Given the description of an element on the screen output the (x, y) to click on. 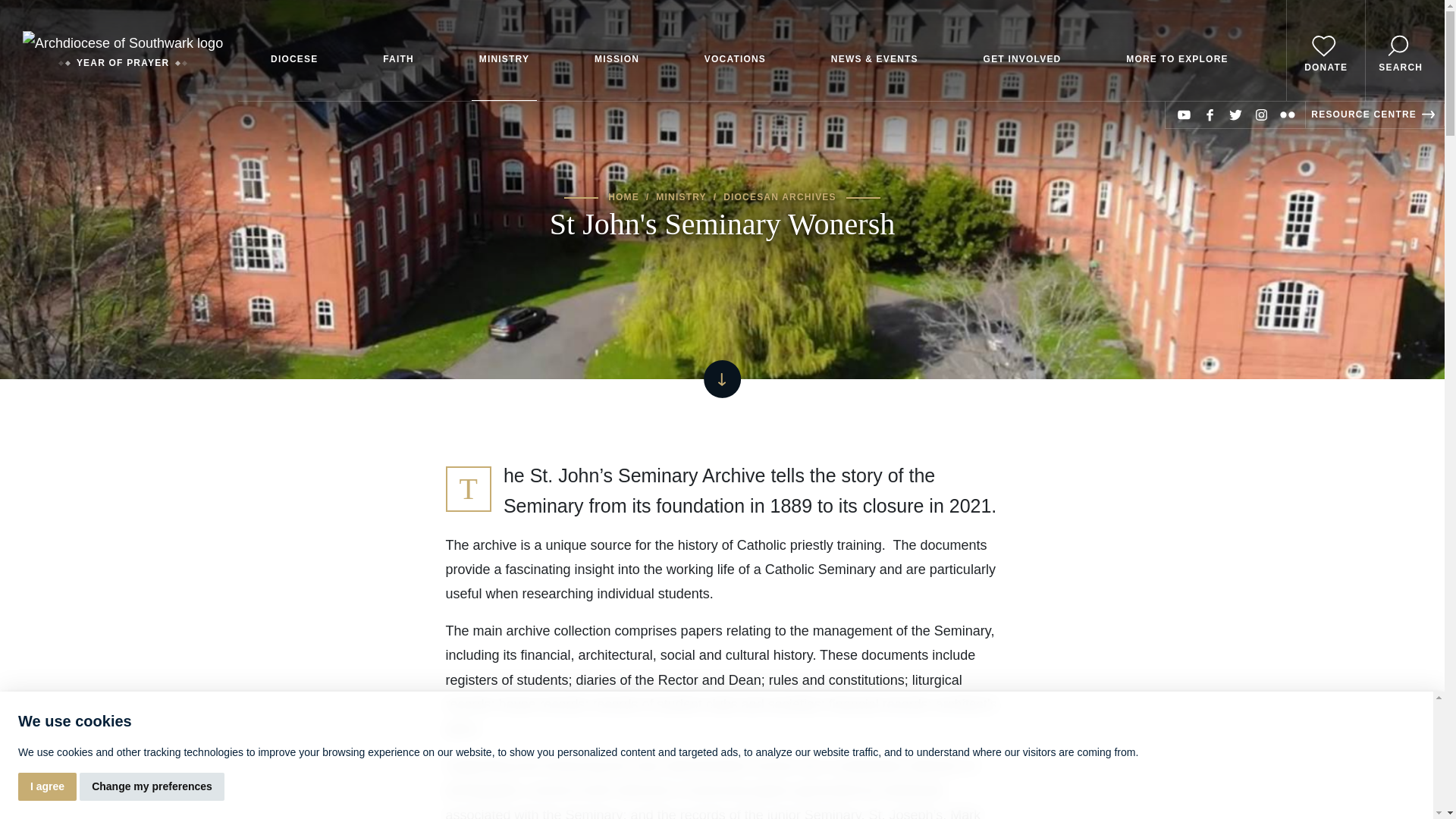
I agree (47, 786)
Change my preferences (152, 786)
